Given the description of an element on the screen output the (x, y) to click on. 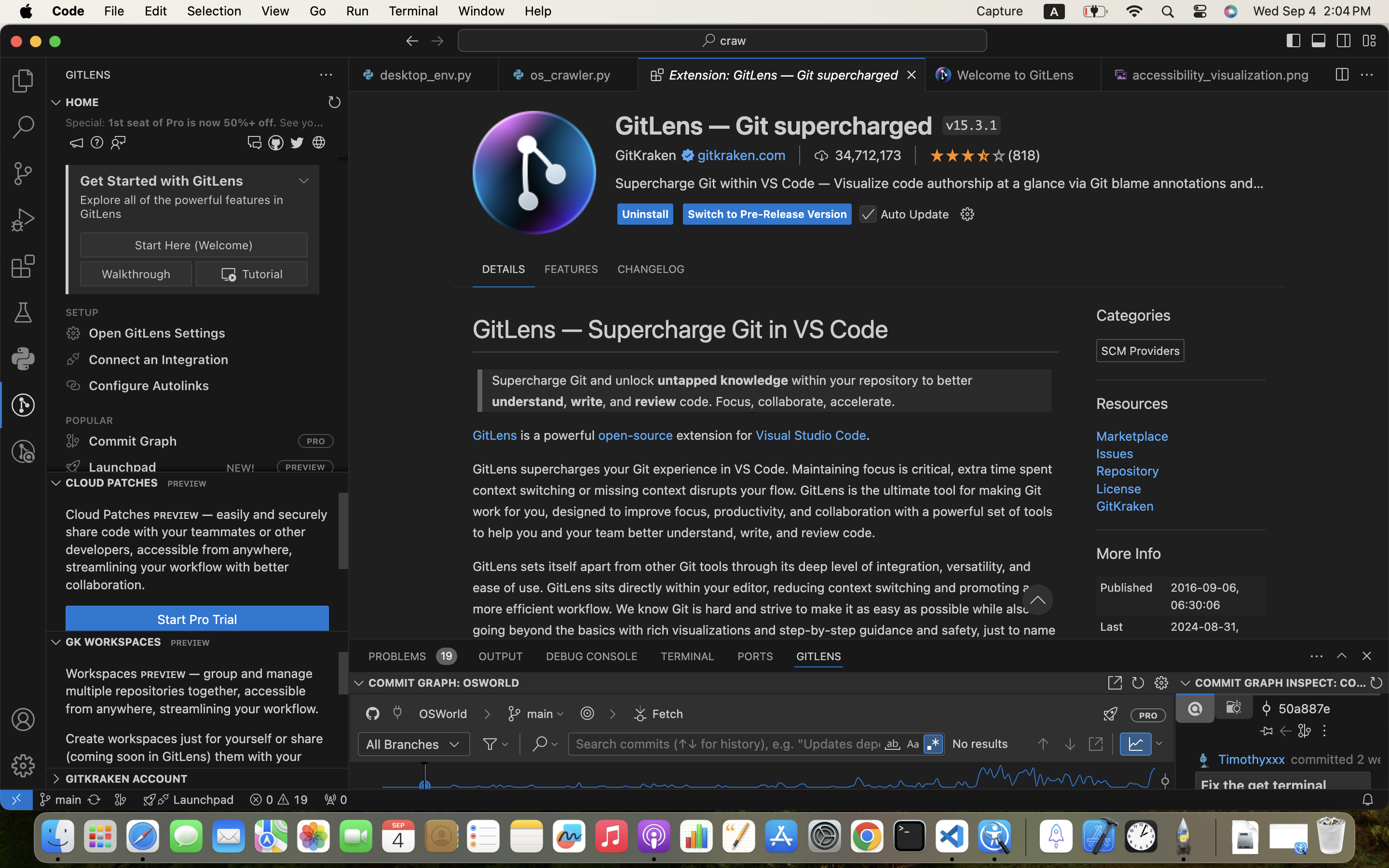
Supercharge Git and unlock Element type: AXStaticText (456, 180)
Repository Element type: AXStaticText (1127, 470)
19  0  Element type: AXButton (278, 799)
function Element type: AXStaticText (700, 586)
1 GITLENS Element type: AXRadioButton (819, 655)
